Given the description of an element on the screen output the (x, y) to click on. 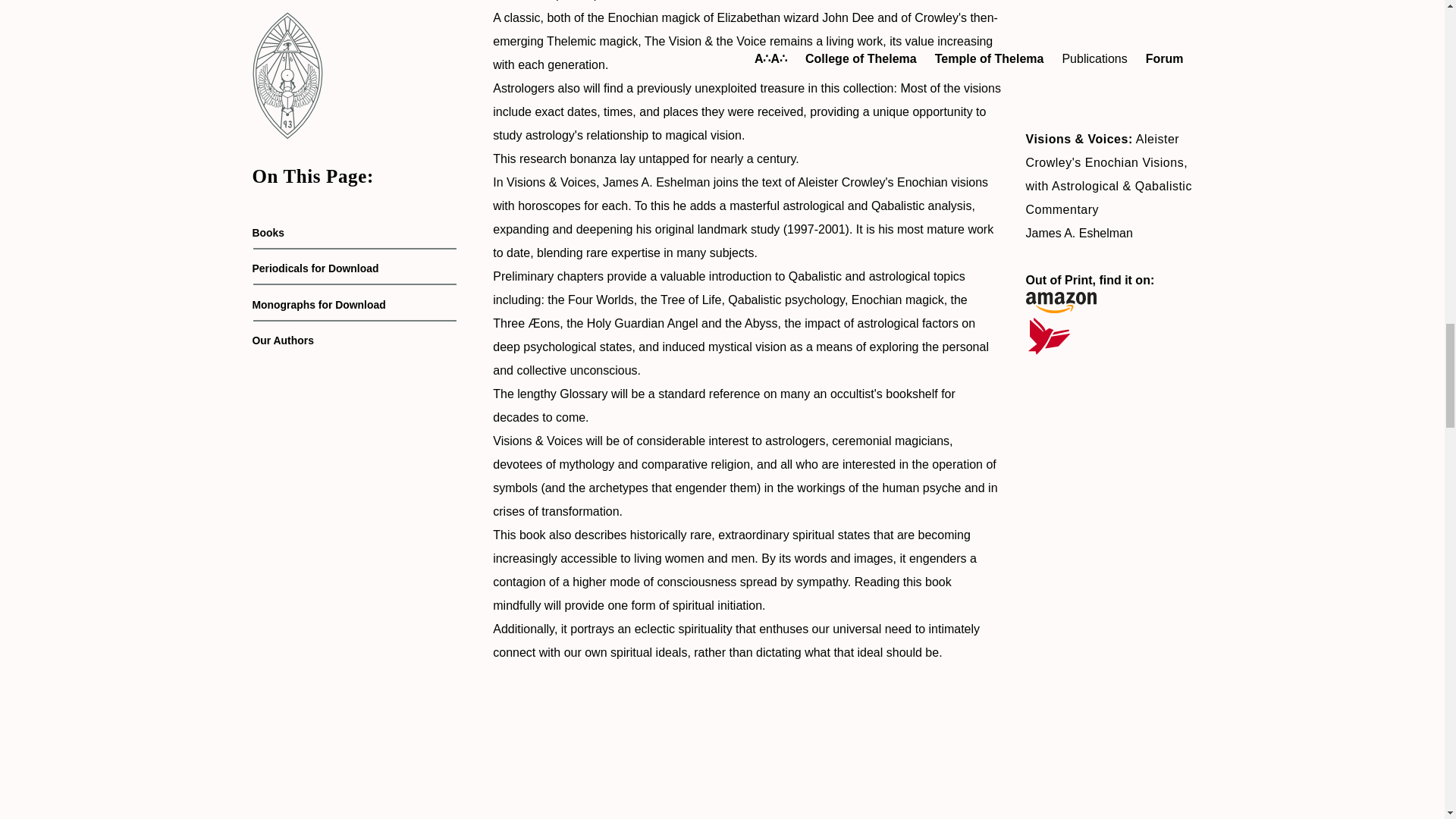
Out of Print, find it on: (1108, 292)
Find Visions and Voices on Amazon (1108, 292)
Find Visions and Voices on AbesBooks (1108, 335)
